Given the description of an element on the screen output the (x, y) to click on. 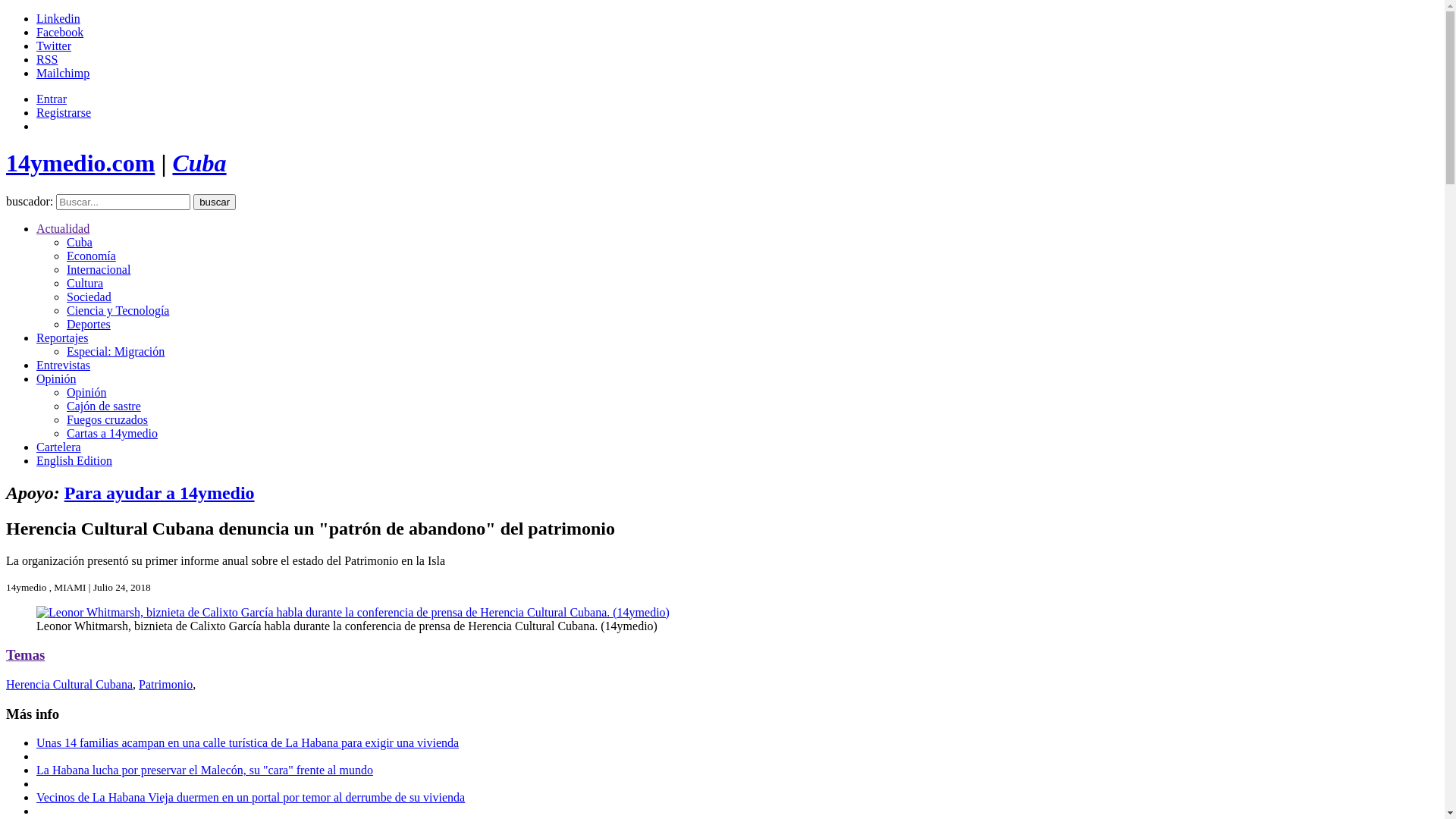
RSS Element type: text (46, 59)
Cuba Element type: text (79, 241)
Sociedad Element type: text (88, 296)
Deportes Element type: text (88, 323)
Actualidad Element type: text (62, 228)
Cartas a 14ymedio Element type: text (111, 432)
Fuegos cruzados Element type: text (106, 419)
Registrarse Element type: text (63, 112)
buscar Element type: text (214, 202)
14ymedio.com Element type: text (80, 162)
Mailchimp Element type: text (62, 72)
Patrimonio Element type: text (165, 683)
English Edition Element type: text (74, 460)
Facebook Element type: text (59, 31)
Cuba Element type: text (198, 162)
Twitter Element type: text (53, 45)
Internacional Element type: text (98, 269)
Reportajes Element type: text (61, 337)
Temas Element type: text (25, 654)
Entrar Element type: text (51, 98)
Entrevistas Element type: text (63, 364)
Cartelera Element type: text (58, 446)
Linkedin Element type: text (58, 18)
Herencia Cultural Cubana Element type: text (69, 683)
Para ayudar a 14ymedio Element type: text (159, 492)
Cultura Element type: text (84, 282)
